Given the description of an element on the screen output the (x, y) to click on. 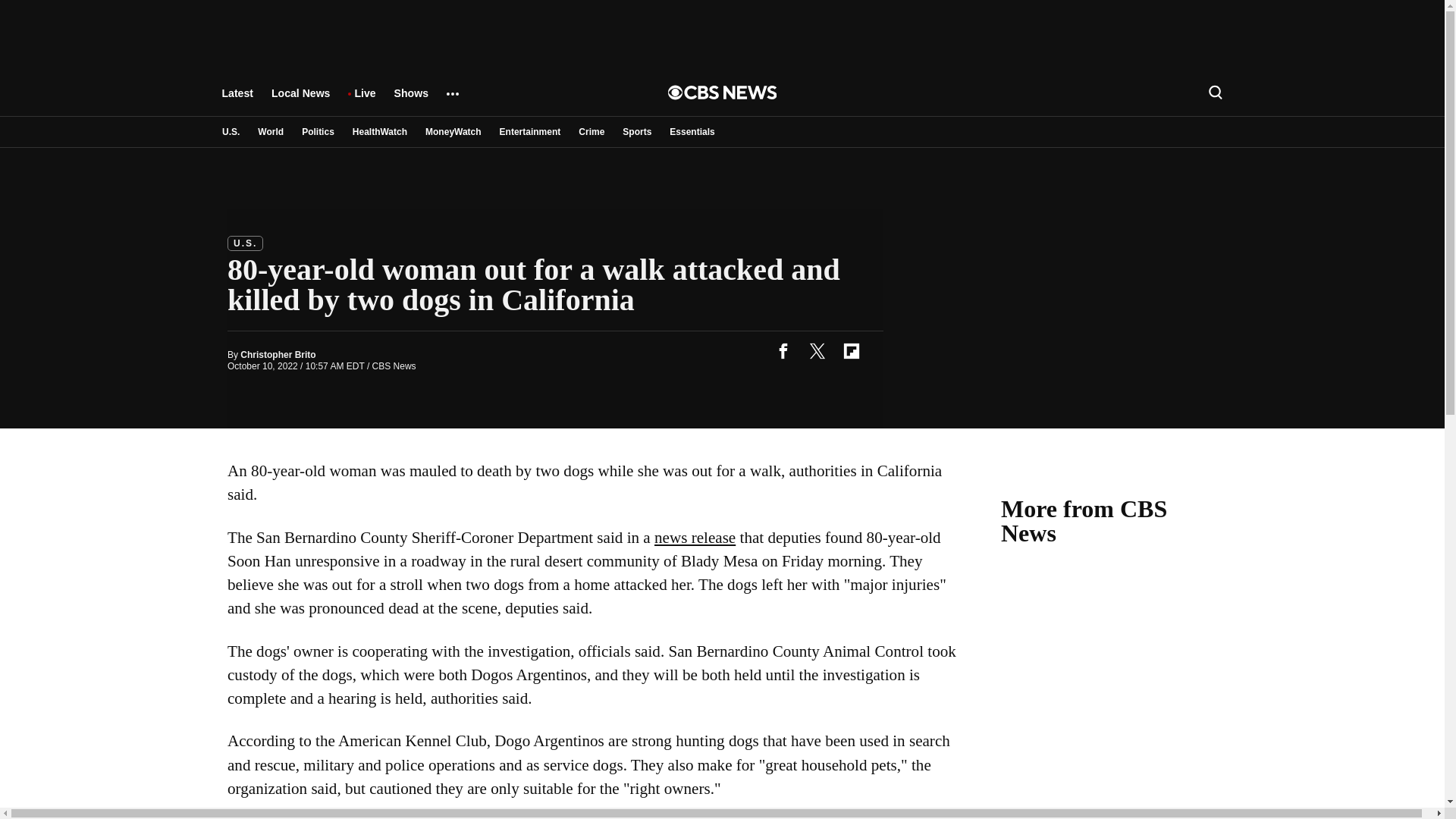
flipboard (850, 350)
Latest (236, 100)
Local News (300, 100)
facebook (782, 350)
twitter (816, 350)
